Given the description of an element on the screen output the (x, y) to click on. 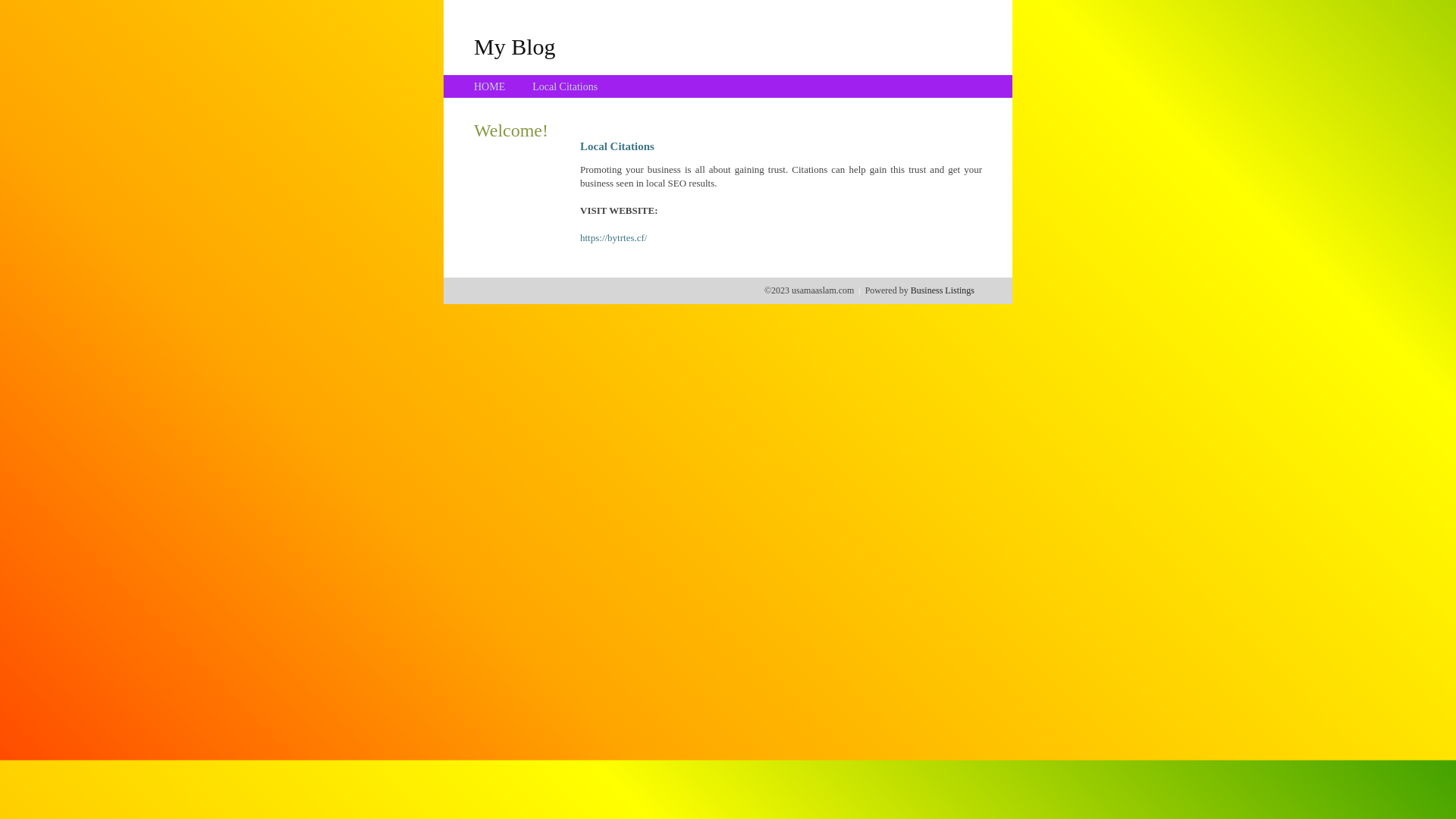
My Blog Element type: text (514, 46)
Business Listings Element type: text (942, 290)
Local Citations Element type: text (564, 86)
https://bytrtes.cf/ Element type: text (613, 237)
HOME Element type: text (489, 86)
